Given the description of an element on the screen output the (x, y) to click on. 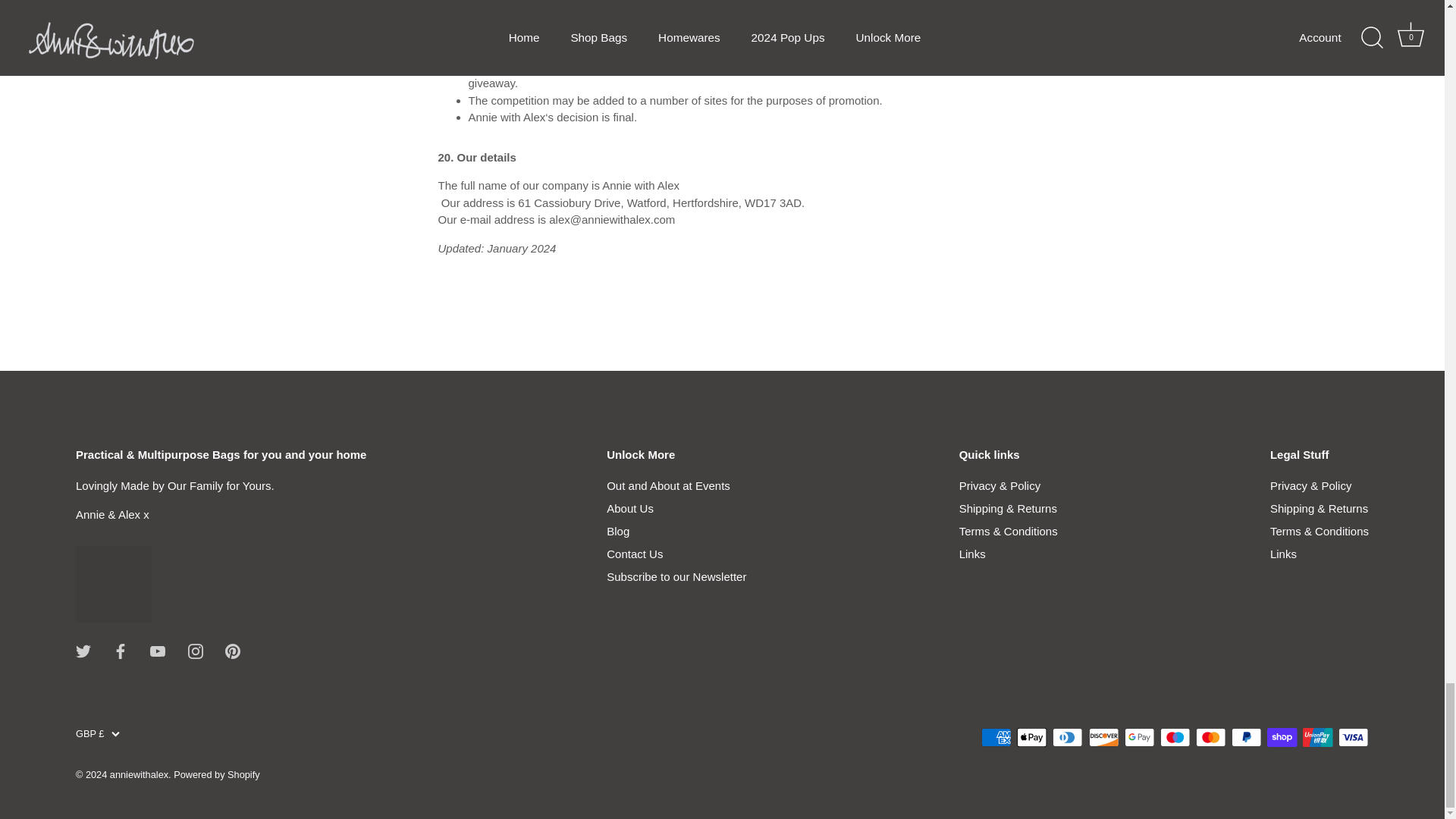
Discover (1104, 737)
Apple Pay (1031, 737)
Youtube (157, 651)
Diners Club (1067, 737)
American Express (996, 737)
Instagram (195, 651)
Shop Pay (1281, 737)
PayPal (1245, 737)
Union Pay (1317, 737)
Maestro (1174, 737)
Mastercard (1210, 737)
Pinterest (232, 651)
Youtube (157, 649)
Visa (1353, 737)
Twitter (82, 651)
